Given the description of an element on the screen output the (x, y) to click on. 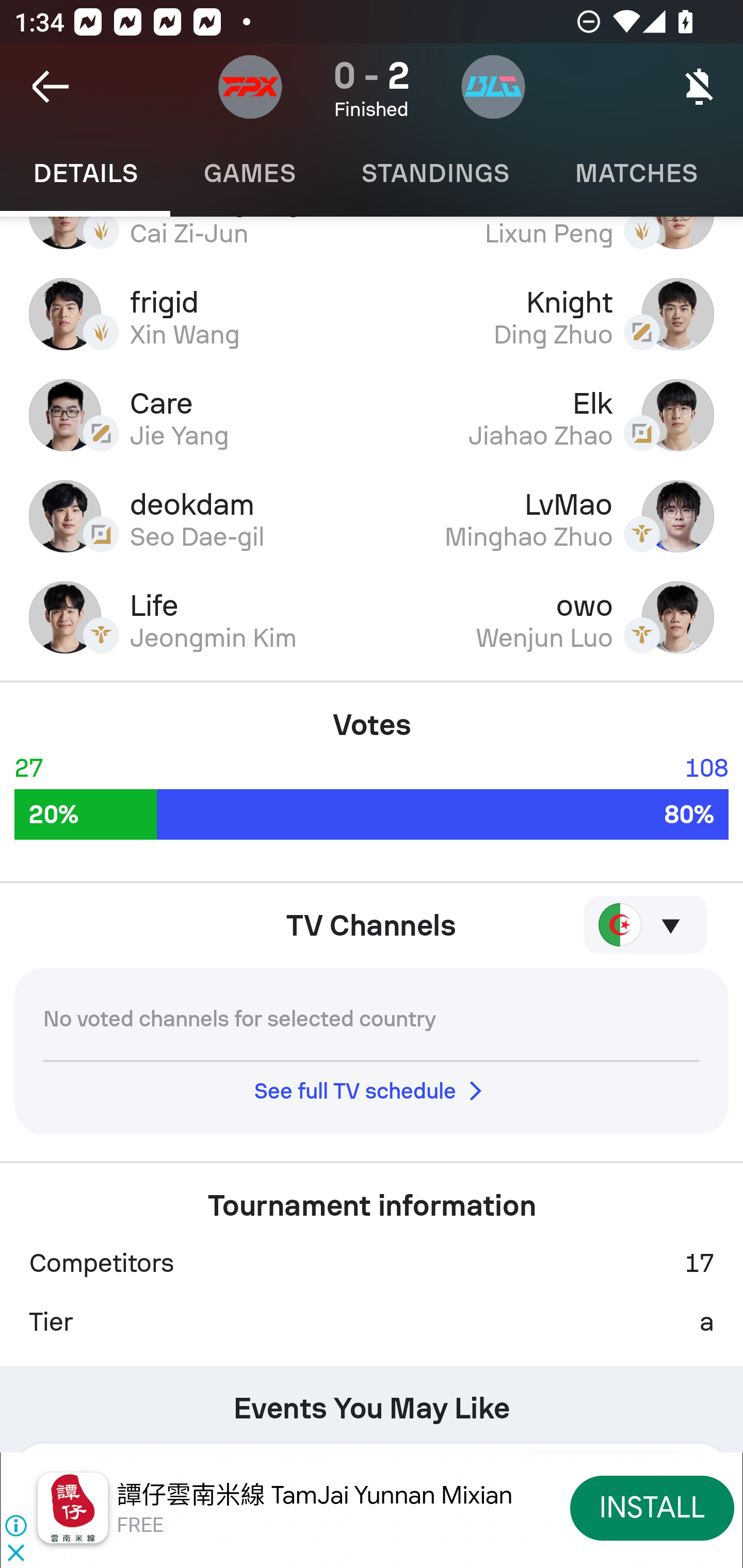
Navigate up (50, 86)
Games GAMES (249, 173)
Standings STANDINGS (434, 173)
Matches MATCHES (635, 173)
frigid Knight Xin Wang Ding Zhuo (371, 314)
Care Elk Jie Yang Jiahao Zhao (371, 415)
deokdam LvMao Seo Dae-gil Minghao Zhuo (371, 516)
Life owo Jeongmin Kim Wenjun Luo (371, 617)
See full TV schedule (371, 1090)
Events You May Like (371, 1400)
INSTALL (652, 1507)
譚仔雲南米線 TamJai Yunnan Mixian (314, 1494)
FREE (139, 1525)
